Given the description of an element on the screen output the (x, y) to click on. 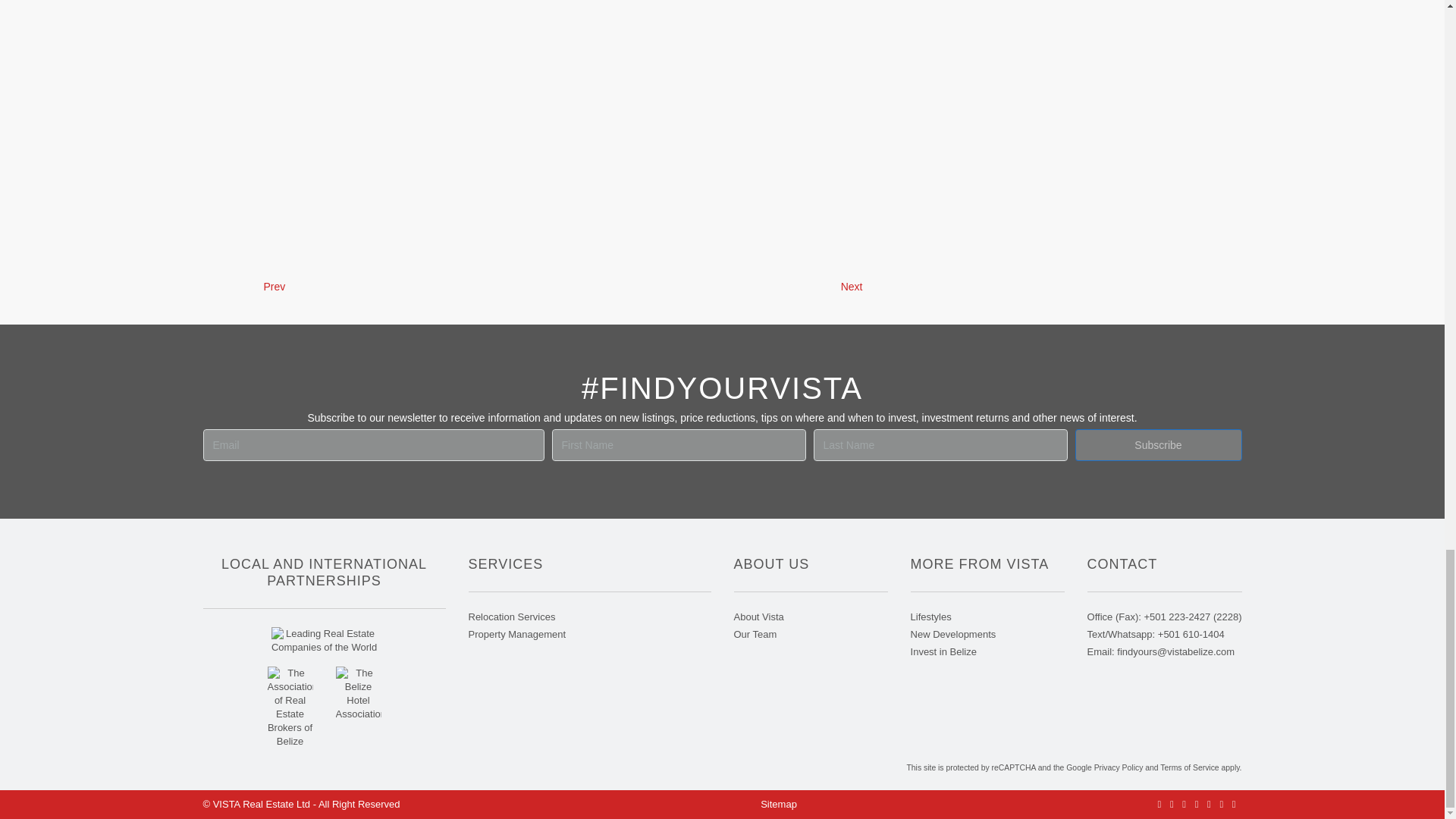
Subscribe (1158, 445)
